Given the description of an element on the screen output the (x, y) to click on. 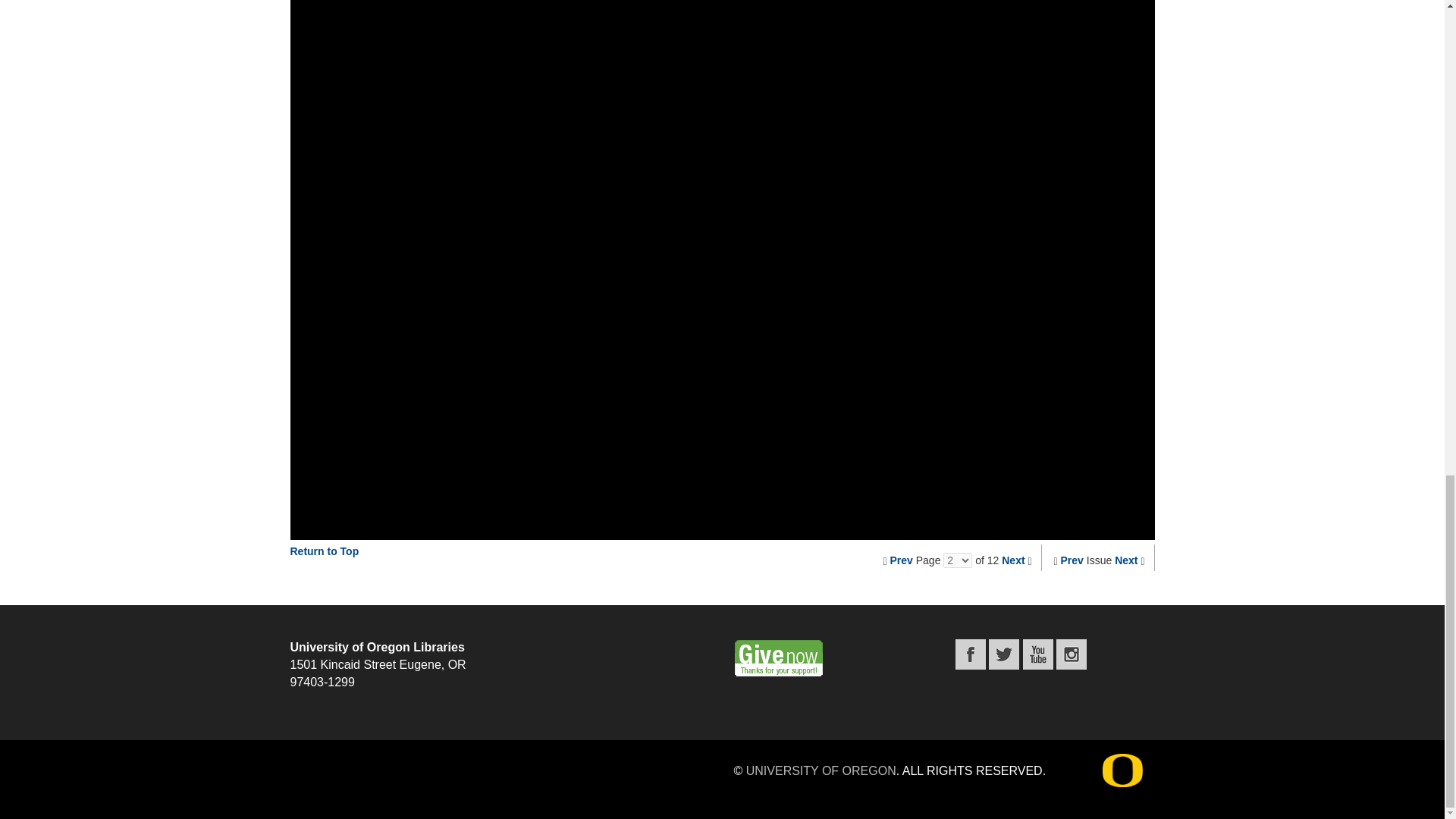
Next (1013, 560)
Prev (1072, 560)
Return to Top (323, 551)
Prev (900, 560)
Next (1126, 560)
